Given the description of an element on the screen output the (x, y) to click on. 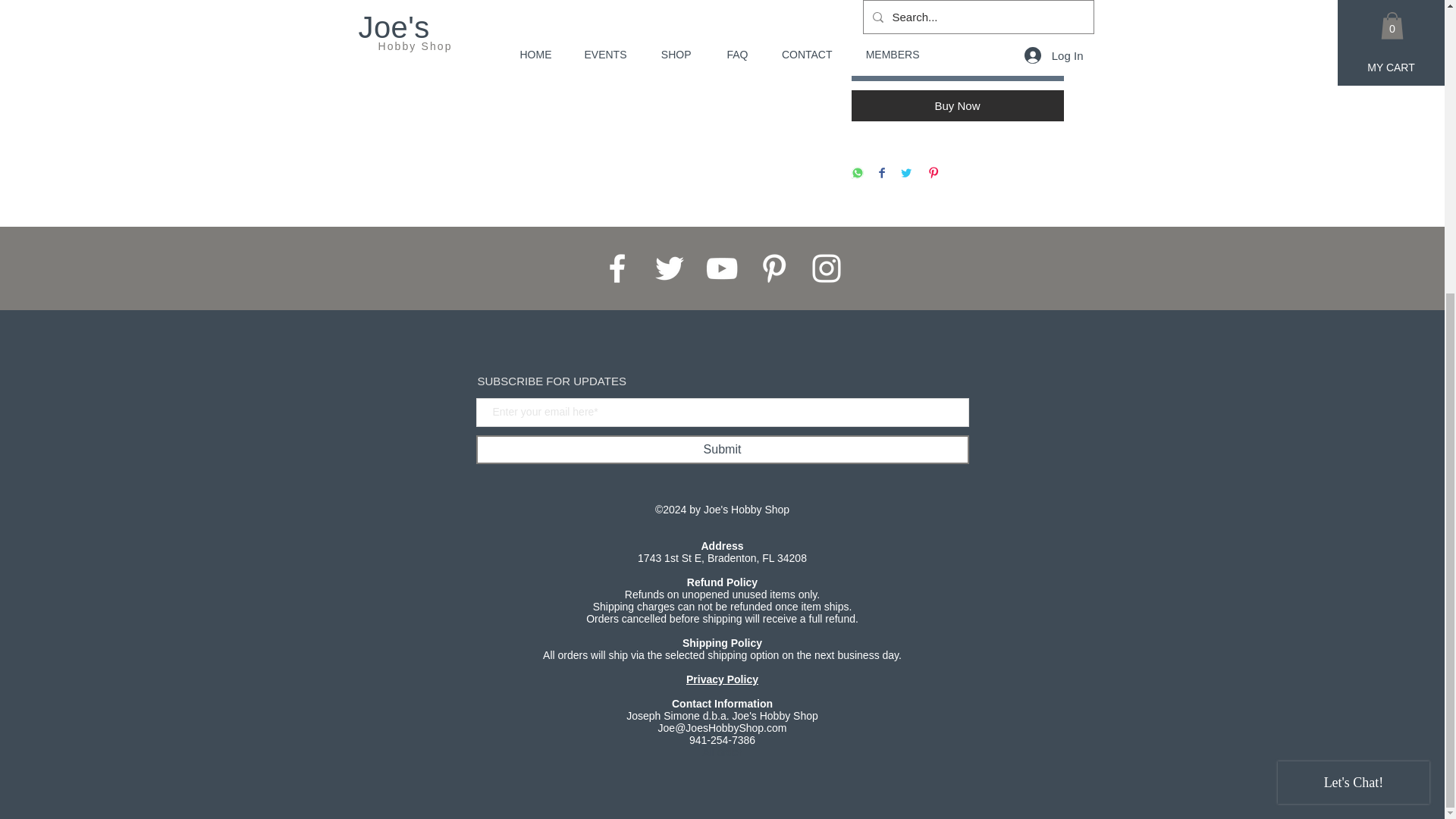
Privacy Policy (721, 679)
Submit (722, 449)
1 (881, 13)
Buy Now (956, 105)
Add to Cart (956, 66)
